Given the description of an element on the screen output the (x, y) to click on. 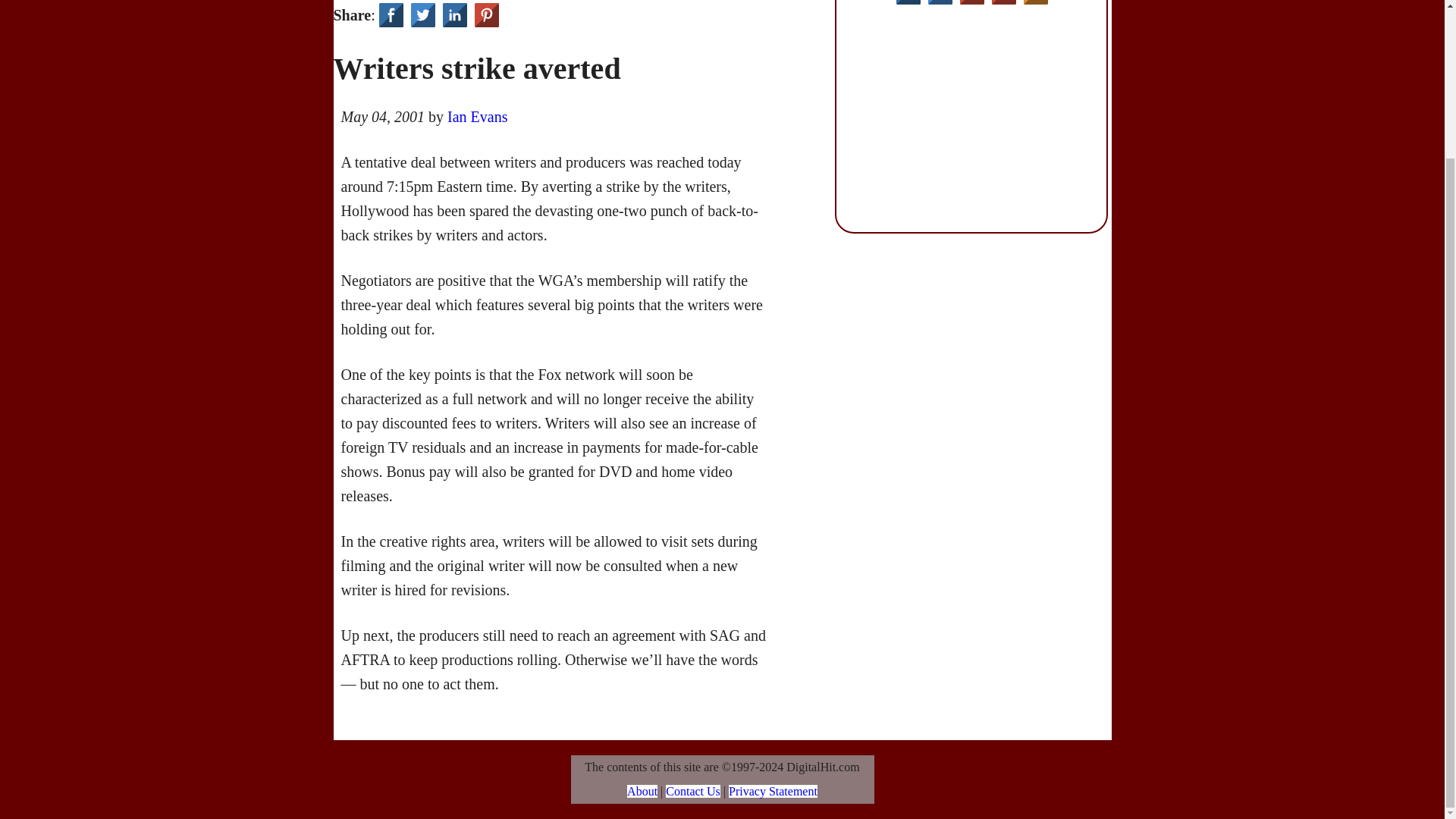
Advertisement (973, 118)
Privacy Statement (772, 790)
Ian Evans (476, 116)
About (642, 790)
